Given the description of an element on the screen output the (x, y) to click on. 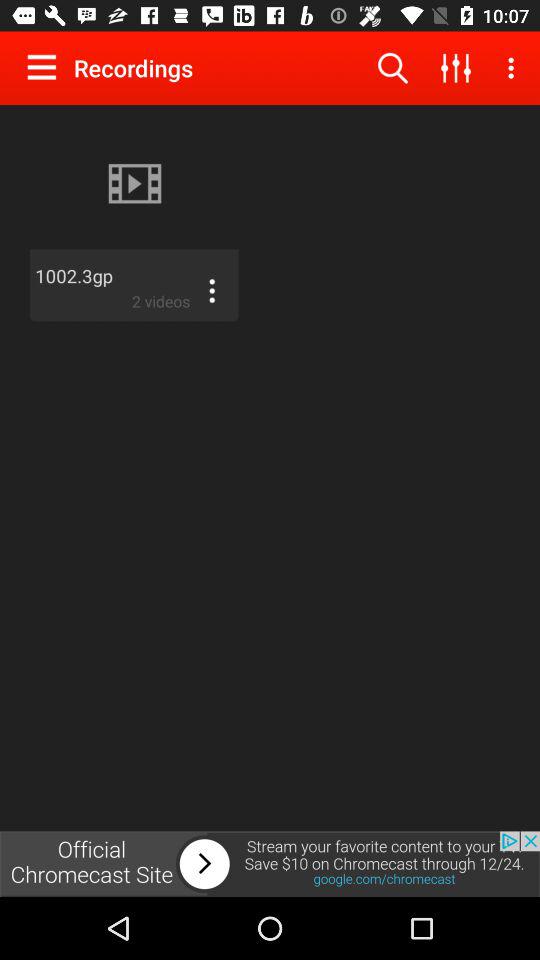
show more options (211, 291)
